Given the description of an element on the screen output the (x, y) to click on. 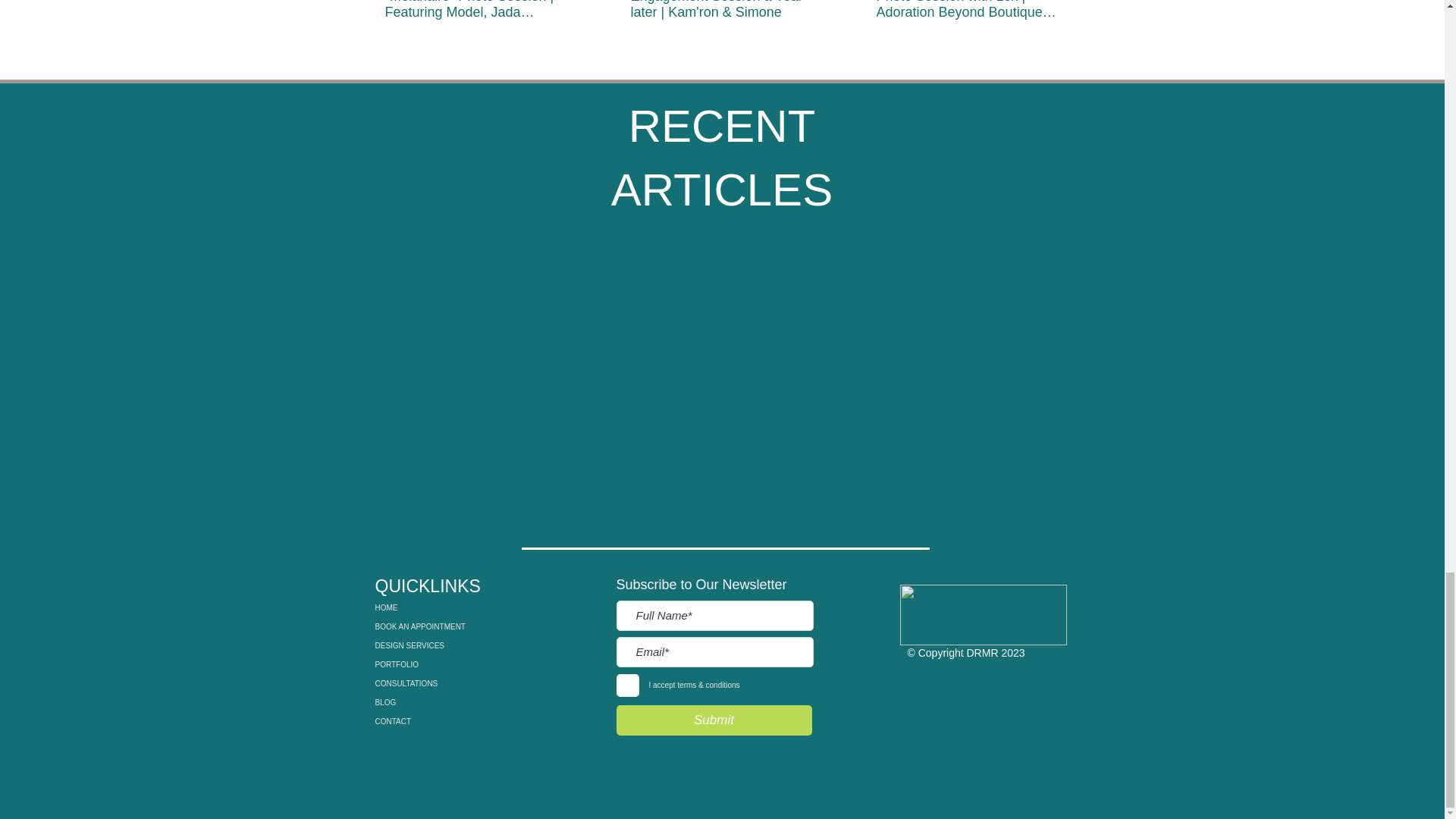
BOOK AN APPOINTMENT (440, 626)
HOME (440, 607)
DESIGN SERVICES (440, 645)
